Given the description of an element on the screen output the (x, y) to click on. 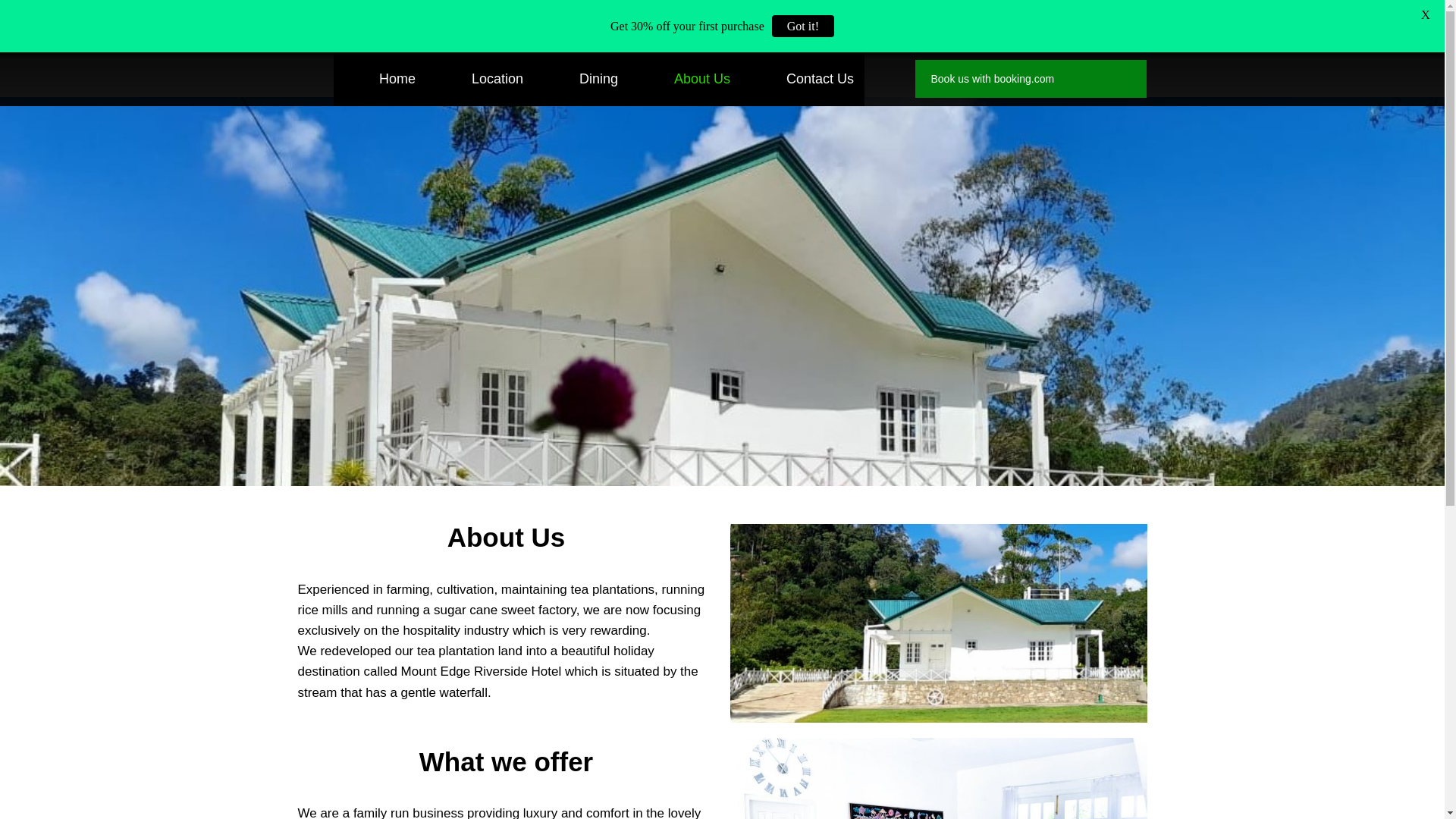
Location (480, 79)
Contact Us (802, 79)
Book us with booking.com (991, 78)
Home (379, 79)
Got it! (802, 25)
About Us (684, 79)
Dining (581, 79)
